Given the description of an element on the screen output the (x, y) to click on. 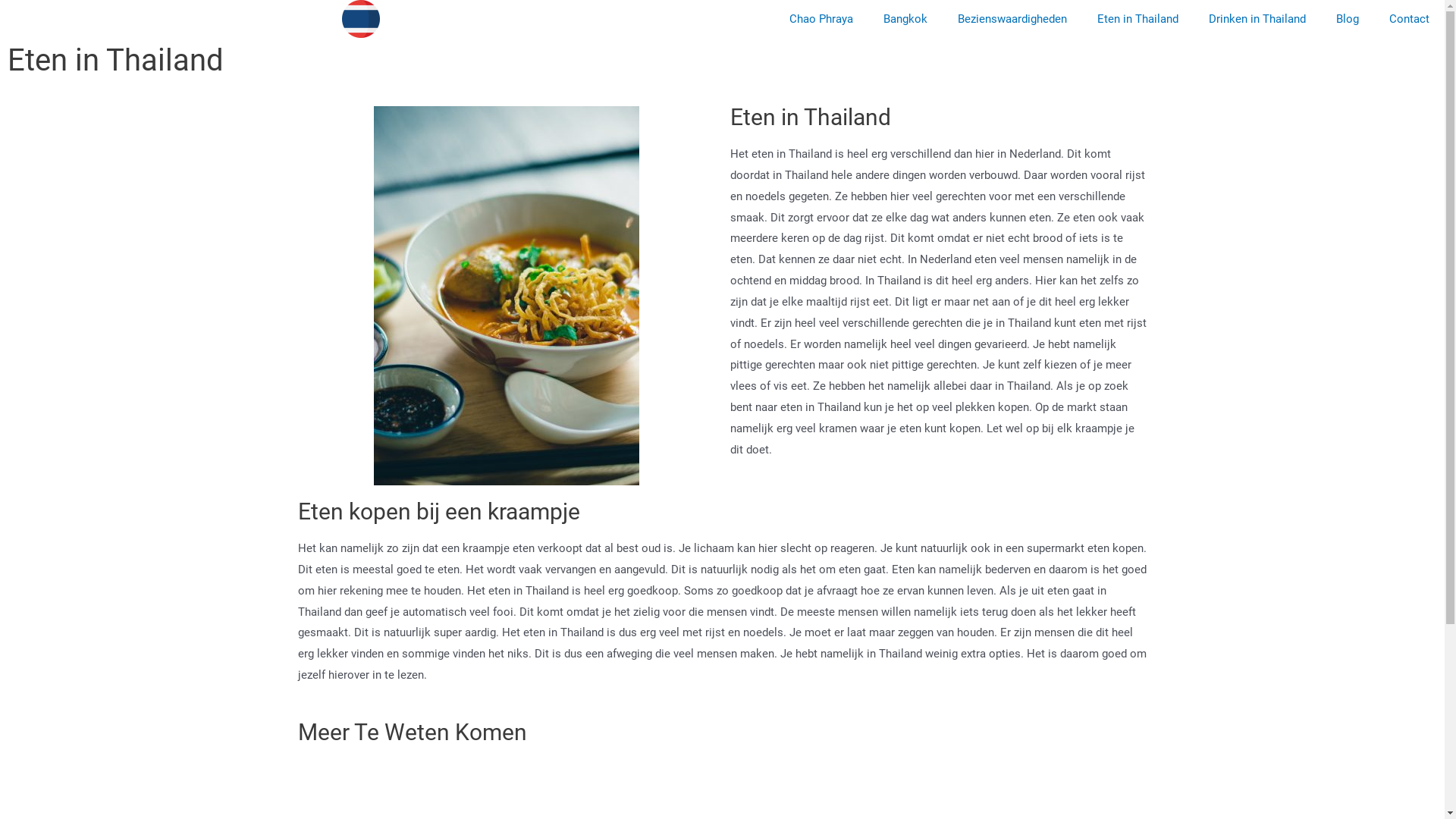
Drinken in Thailand Element type: text (1257, 18)
Eten in Thailand Element type: text (1137, 18)
Bangkok Element type: text (905, 18)
Contact Element type: text (1409, 18)
Blog Element type: text (1347, 18)
8-low-ural-_6bfVnELZXE-unsplash Element type: hover (505, 295)
thailand Element type: hover (360, 18)
Chao Phraya Element type: text (821, 18)
Bezienswaardigheden Element type: text (1012, 18)
